Given the description of an element on the screen output the (x, y) to click on. 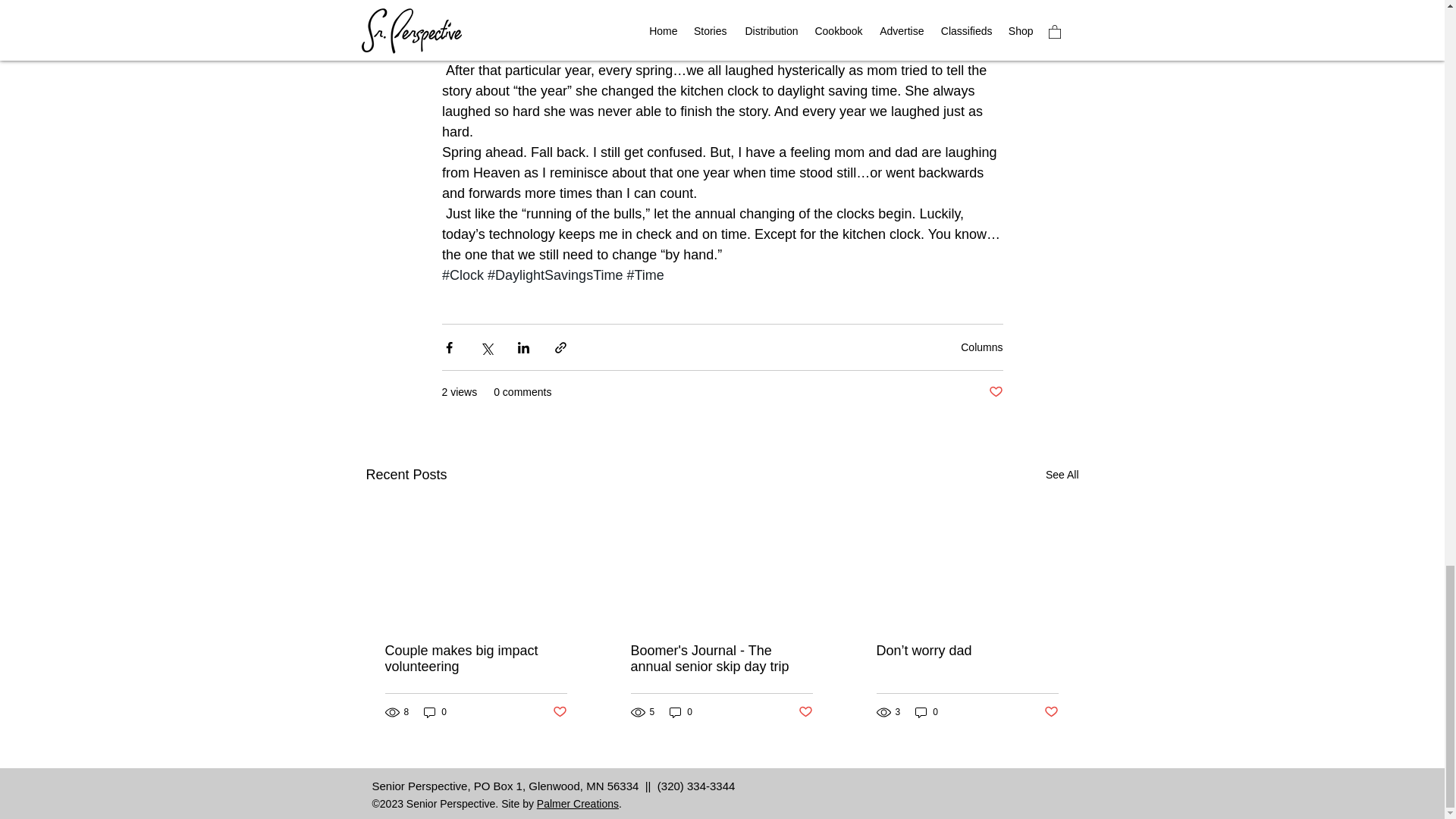
0 (435, 712)
Post not marked as liked (995, 392)
Post not marked as liked (804, 712)
Couple makes big impact volunteering (476, 658)
Post not marked as liked (558, 712)
0 (681, 712)
Columns (981, 346)
Boomer's Journal - The annual senior skip day trip (721, 658)
See All (1061, 475)
